Given the description of an element on the screen output the (x, y) to click on. 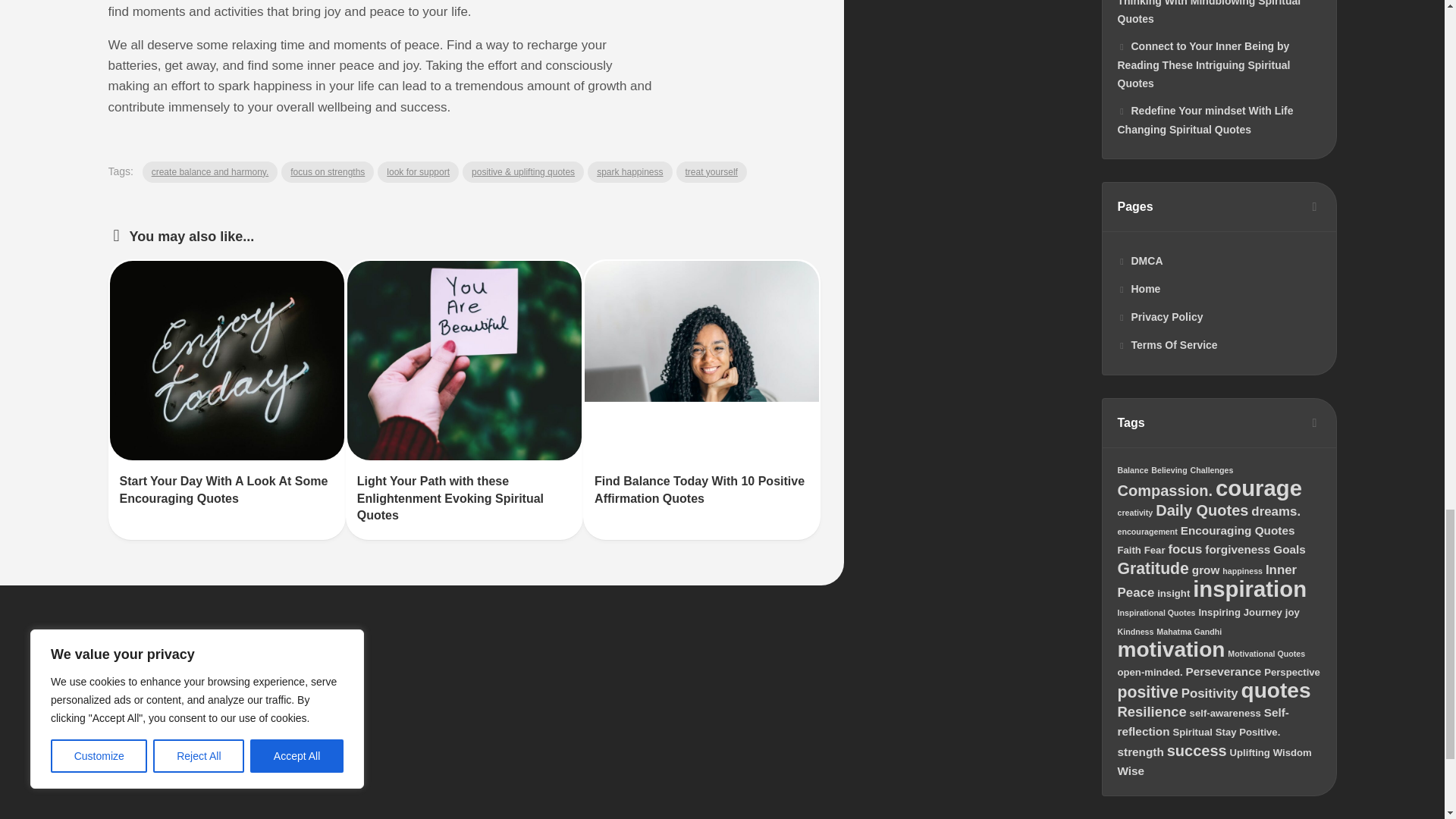
spark happiness (629, 171)
focus on strengths (327, 171)
Start Your Day With A Look At Some Encouraging Quotes (224, 489)
create balance and harmony. (210, 171)
look for support (417, 171)
treat yourself (711, 171)
